Given the description of an element on the screen output the (x, y) to click on. 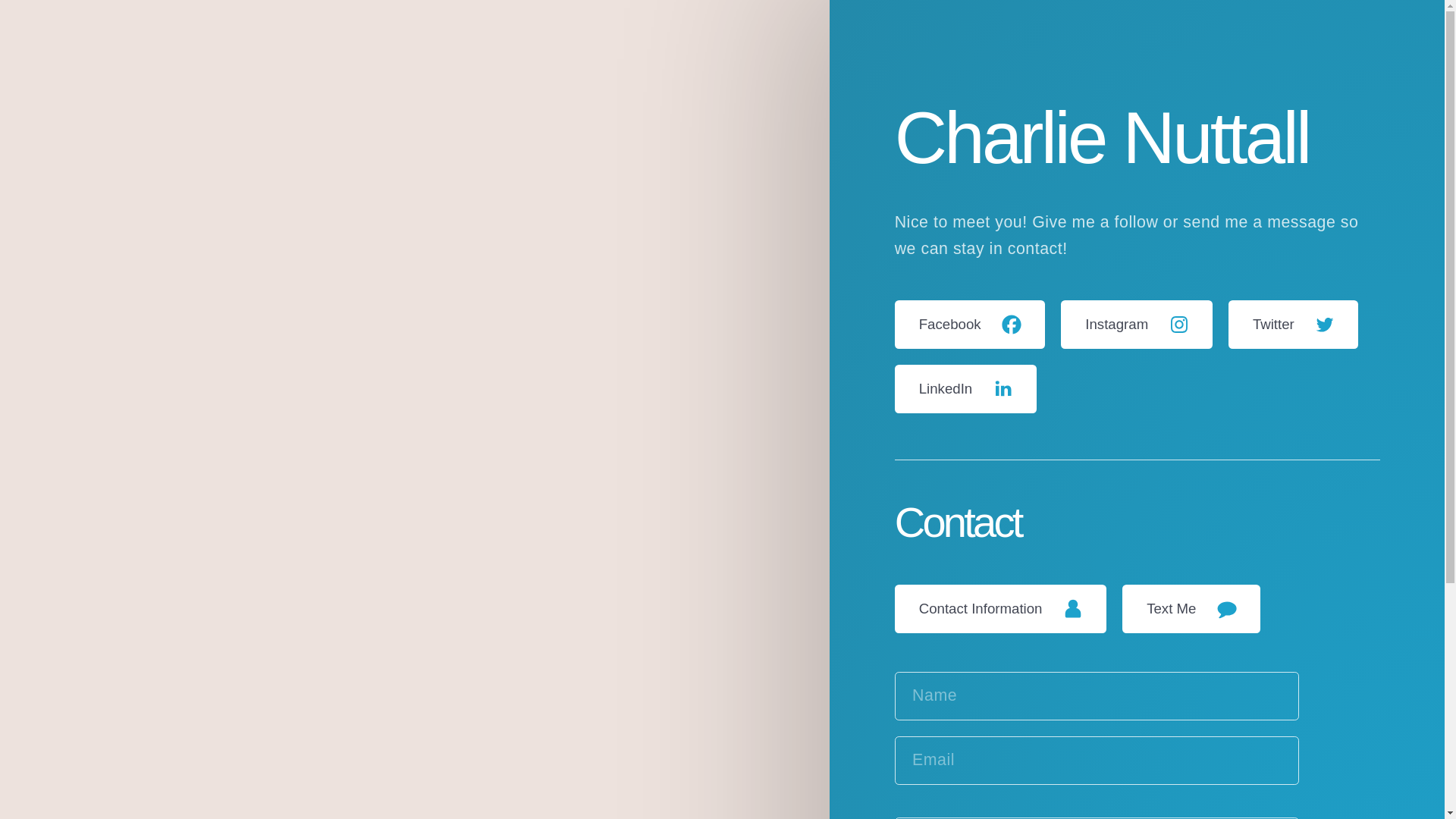
Instagram (1136, 324)
Twitter (1293, 324)
Facebook (970, 324)
LinkedIn (965, 388)
Contact Information (1000, 608)
Text Me (1191, 608)
